Given the description of an element on the screen output the (x, y) to click on. 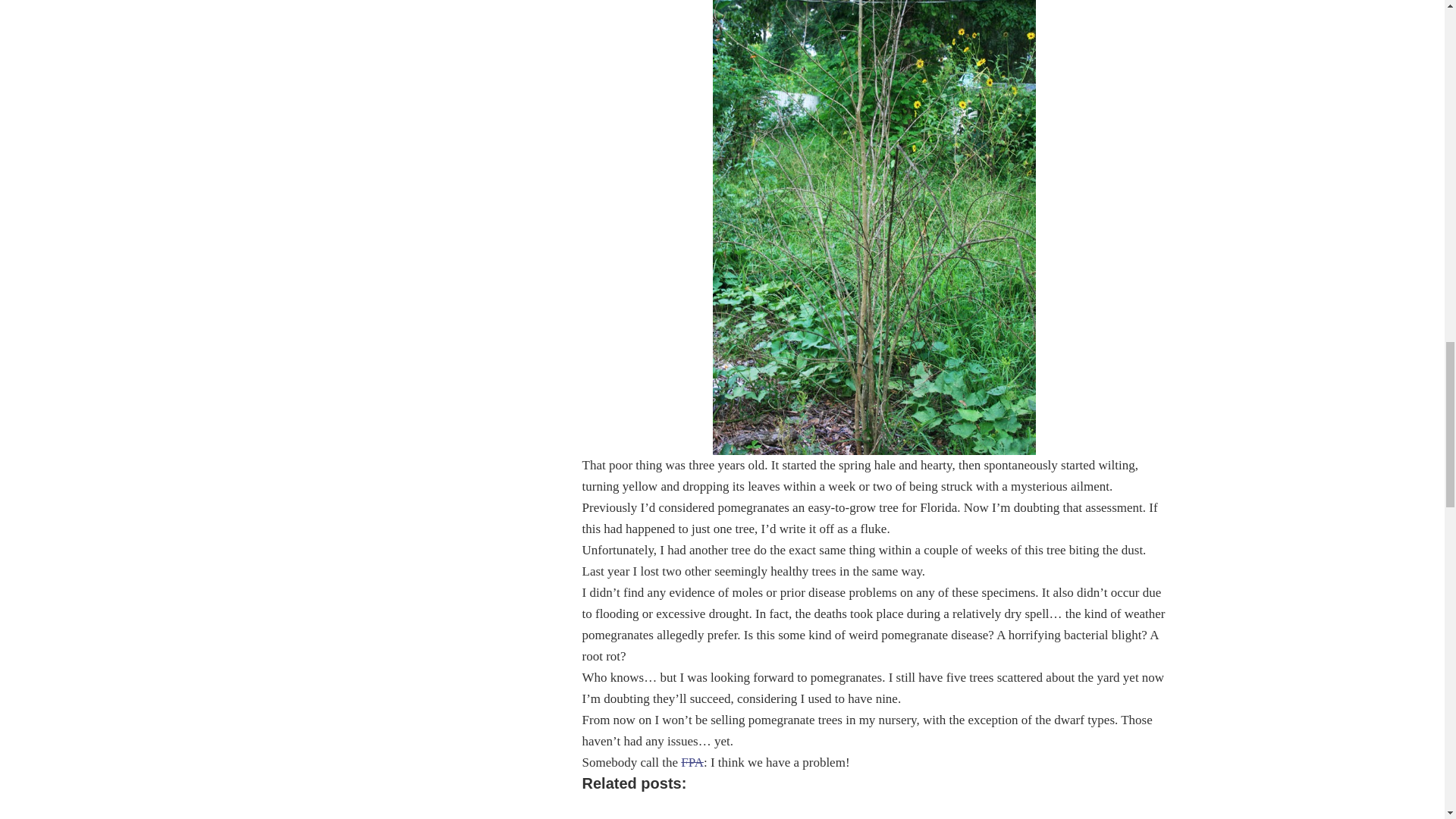
Update (643, 812)
Survival Plant Profile: Turnips (1010, 812)
Diggin' these phat beets (888, 812)
New gardens are in! (765, 812)
FPA (692, 762)
